Given the description of an element on the screen output the (x, y) to click on. 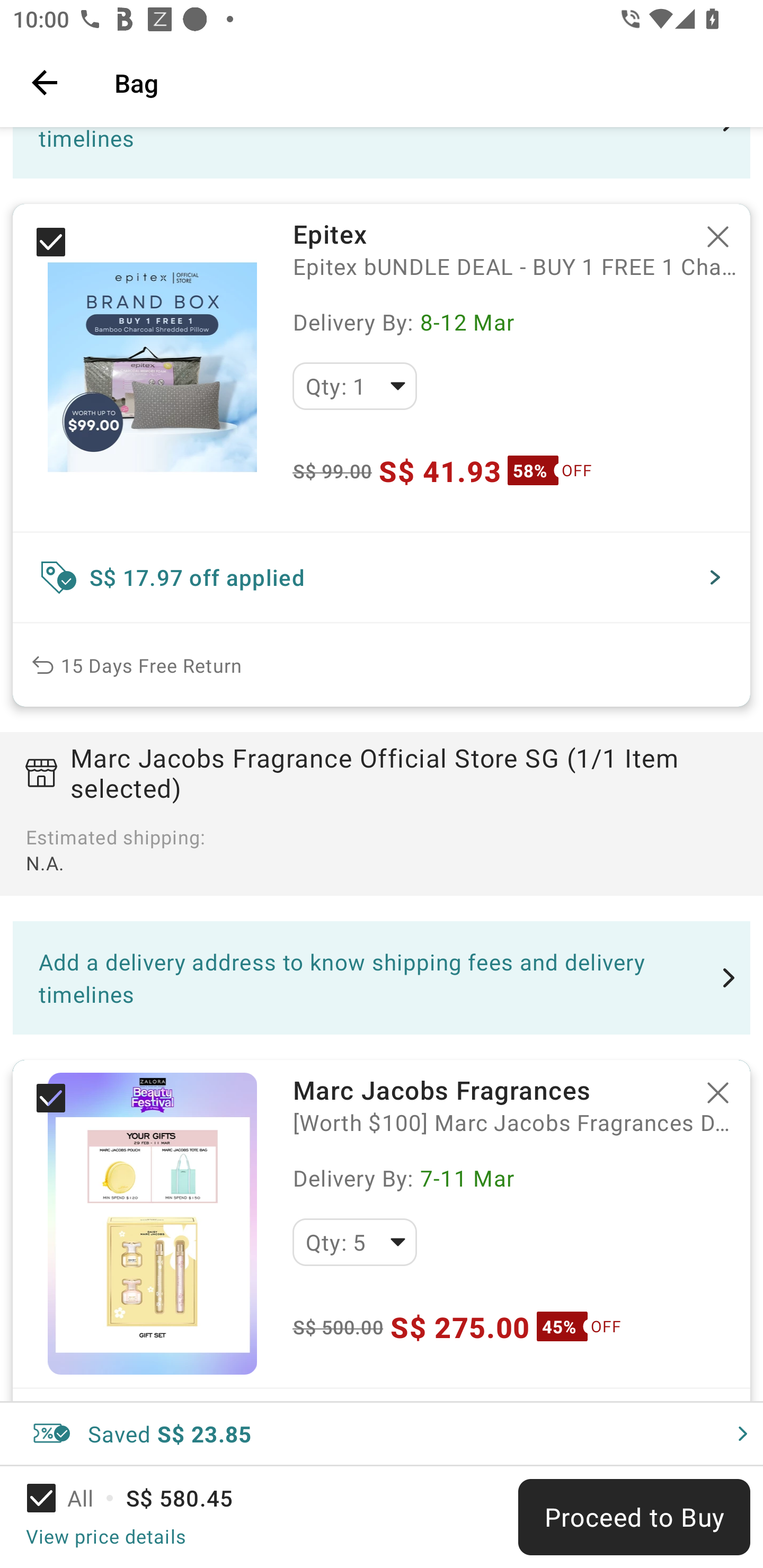
Navigate up (44, 82)
Bag (426, 82)
Qty: 1 (354, 385)
S$ 17.97 off applied (381, 577)
Qty: 5 (354, 1241)
Saved S$ 23.85 (381, 1433)
All (72, 1497)
Proceed to Buy (634, 1516)
View price details (105, 1535)
